Given the description of an element on the screen output the (x, y) to click on. 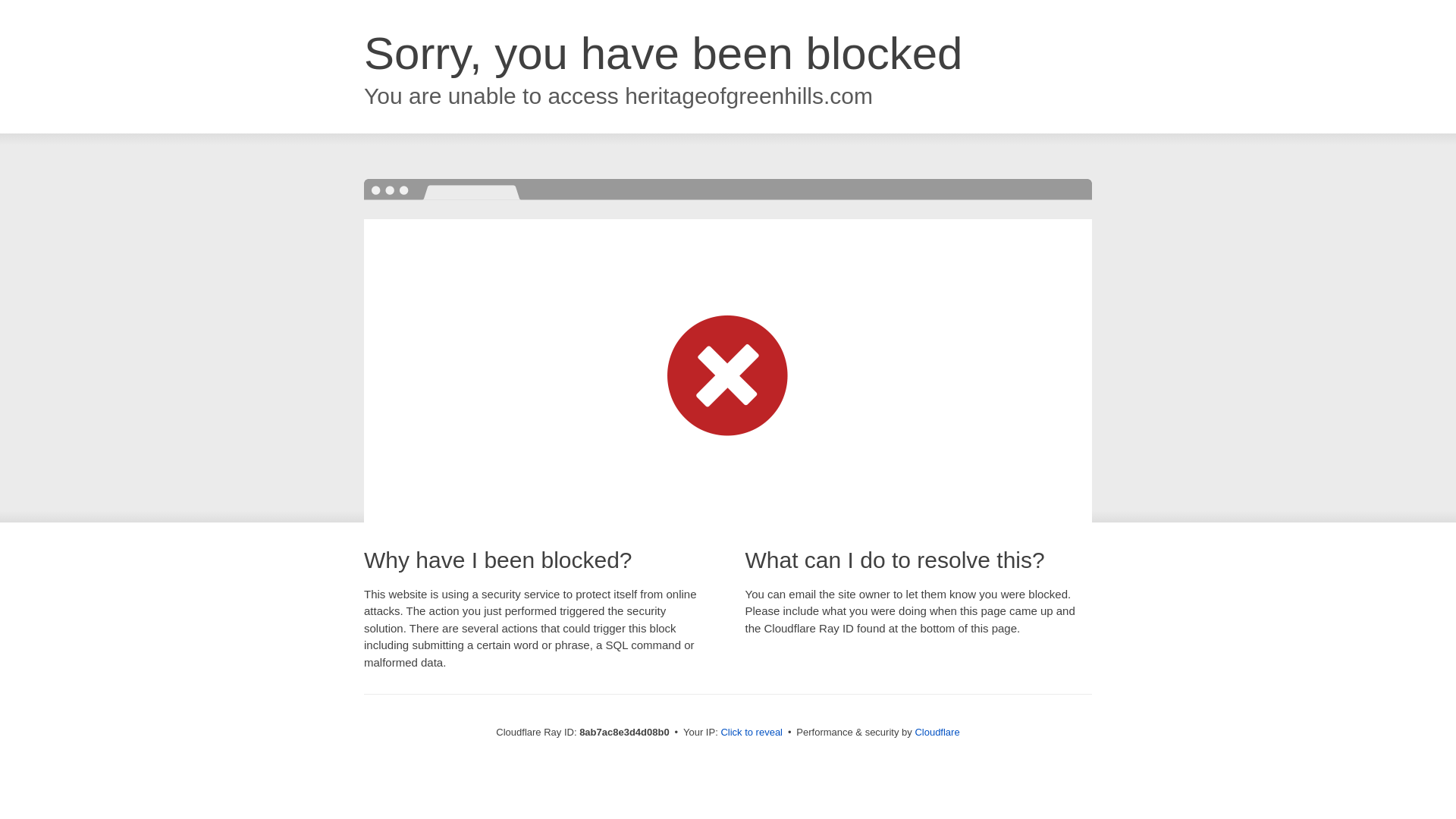
Click to reveal (751, 732)
Cloudflare (936, 731)
